Given the description of an element on the screen output the (x, y) to click on. 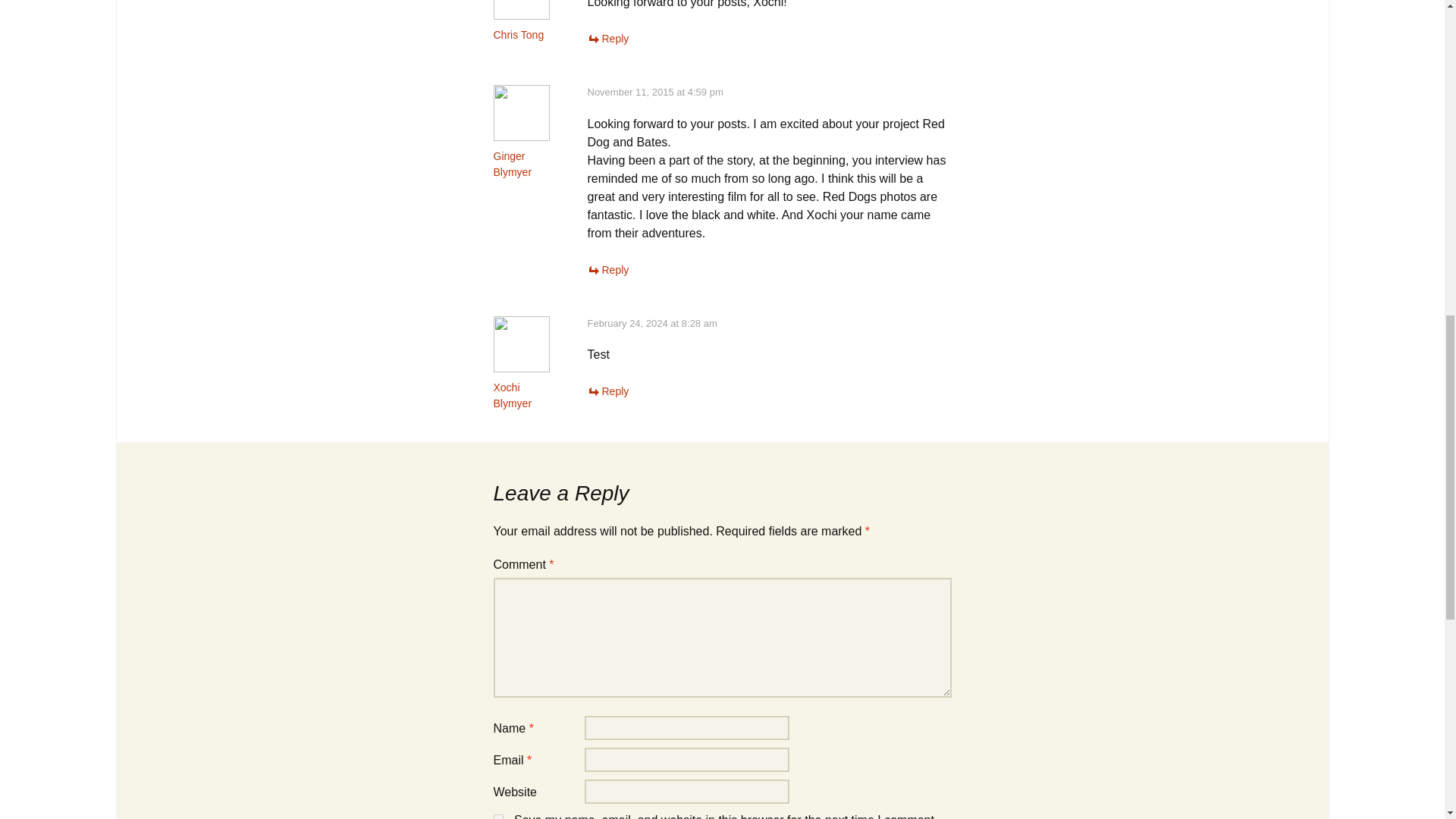
yes (497, 816)
Reply (607, 390)
Reply (607, 38)
February 24, 2024 at 8:28 am (651, 323)
Reply (607, 269)
November 11, 2015 at 4:59 pm (654, 91)
